Given the description of an element on the screen output the (x, y) to click on. 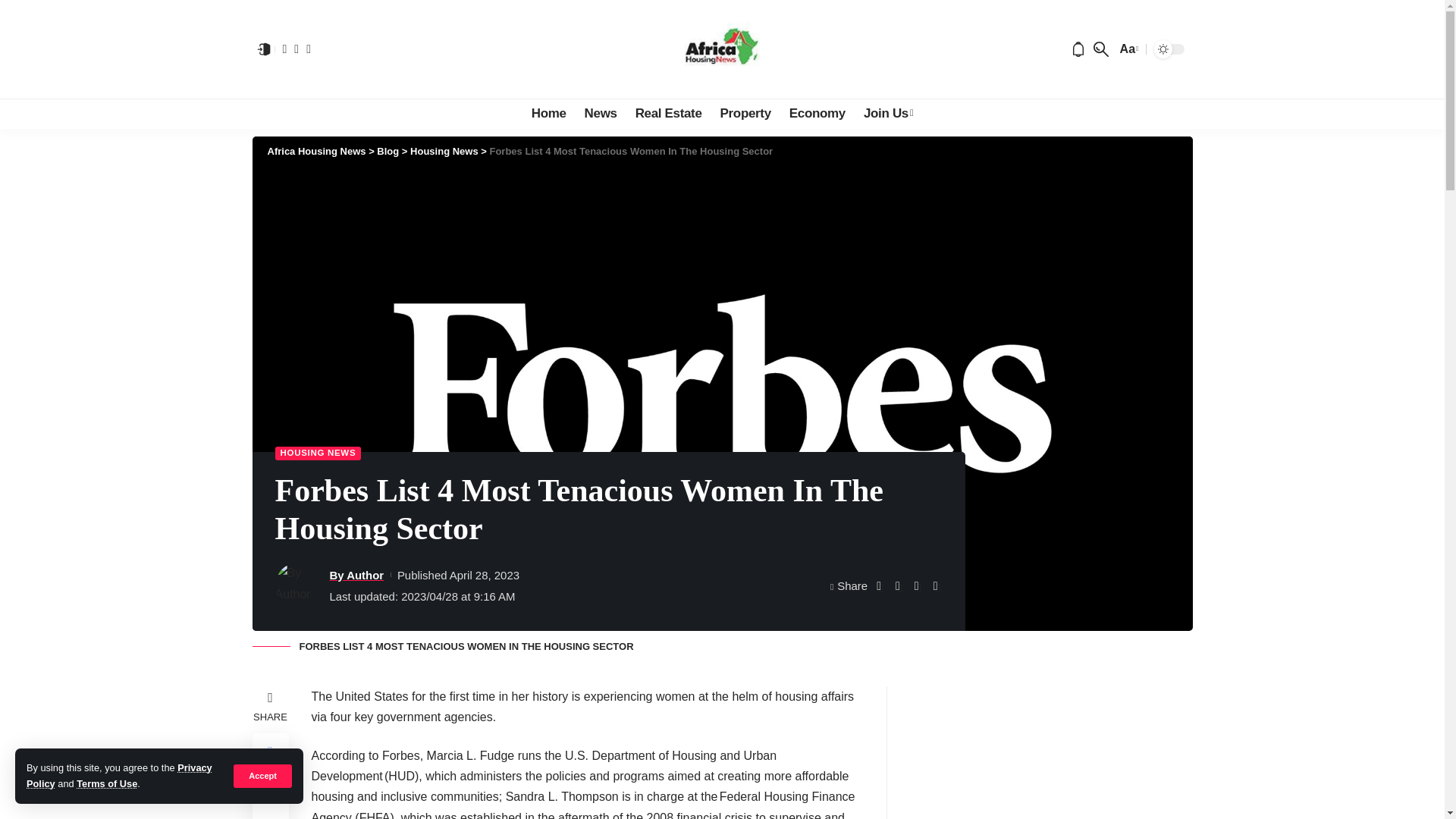
Africa Housing News (722, 48)
Go to Blog. (387, 151)
Economy (817, 113)
Terms of Use (106, 783)
News (600, 113)
Go to Africa Housing News. (315, 151)
Aa (1127, 48)
Privacy Policy (119, 775)
Join Us (887, 113)
Real Estate (668, 113)
Go to the Housing News Category archives. (444, 151)
Accept (262, 775)
Property (745, 113)
Home (548, 113)
